Given the description of an element on the screen output the (x, y) to click on. 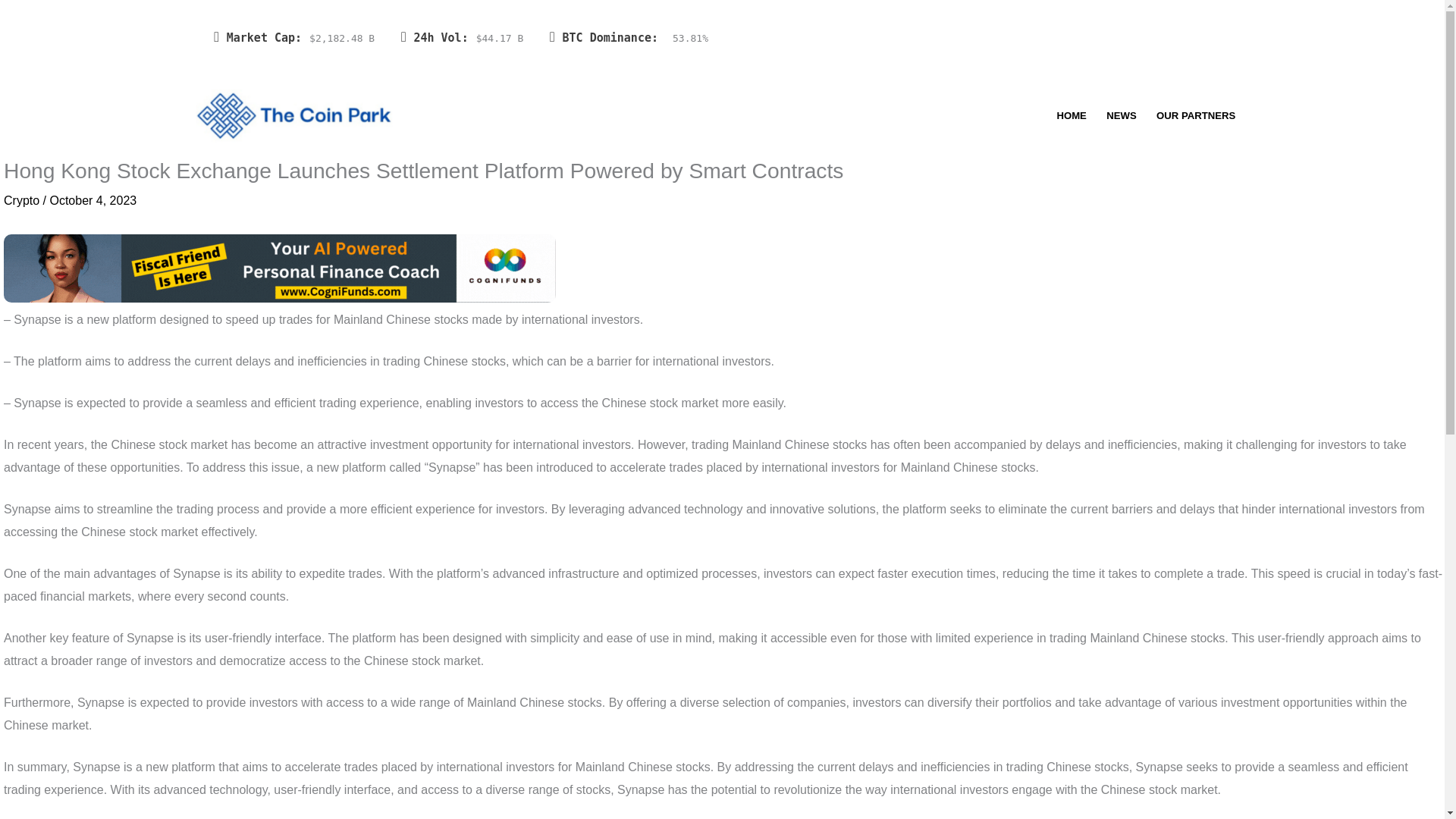
NEWS (1121, 115)
Crypto (21, 200)
HOME (1071, 115)
OUR PARTNERS (1196, 115)
